Given the description of an element on the screen output the (x, y) to click on. 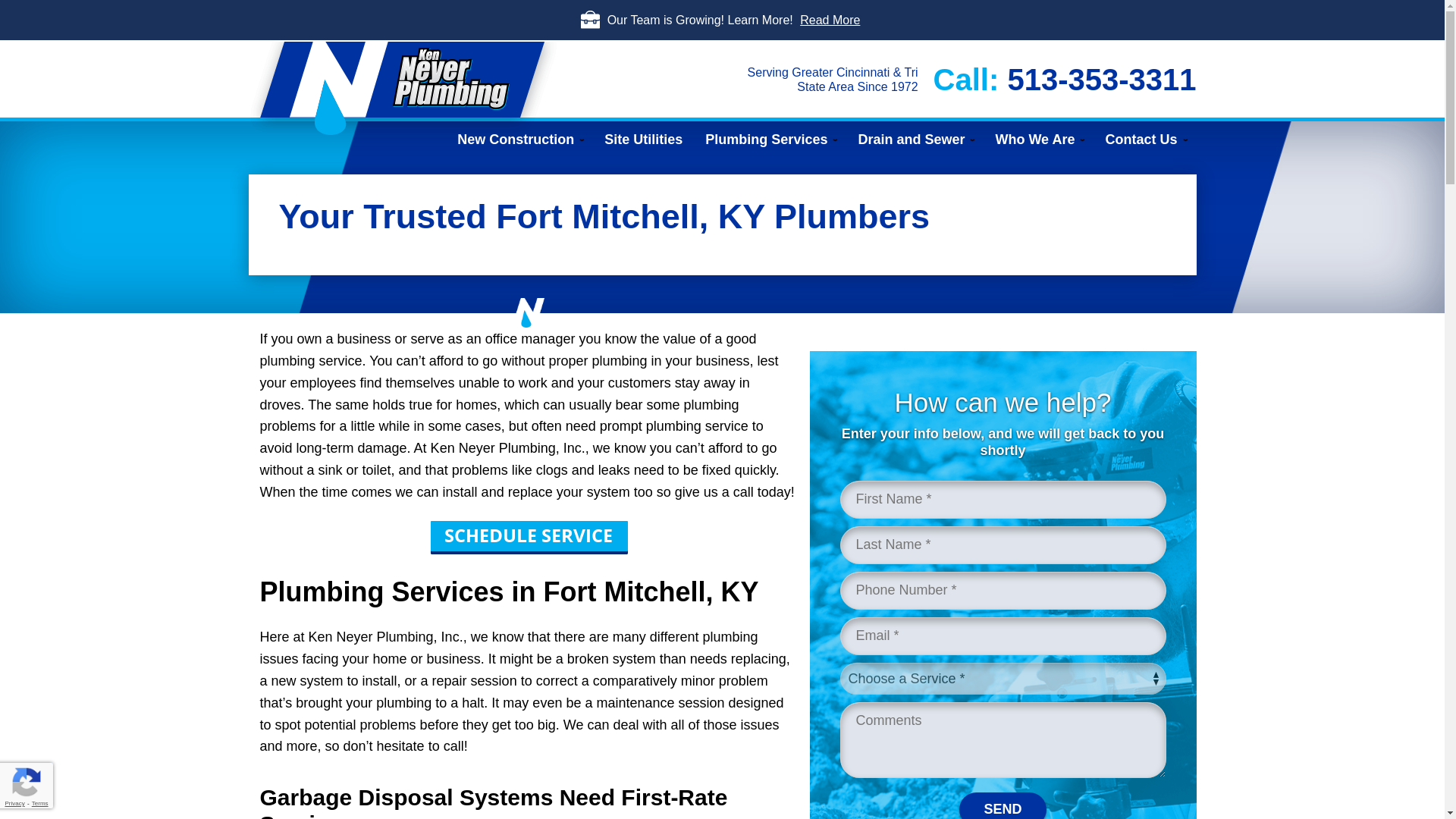
Plumbing Services (769, 139)
schedule-service (528, 537)
513-353-3311 (1101, 79)
New Construction (518, 139)
Who We Are (1038, 139)
Read More (829, 19)
Drain and Sewer (914, 139)
Site Utilities (643, 139)
